Given the description of an element on the screen output the (x, y) to click on. 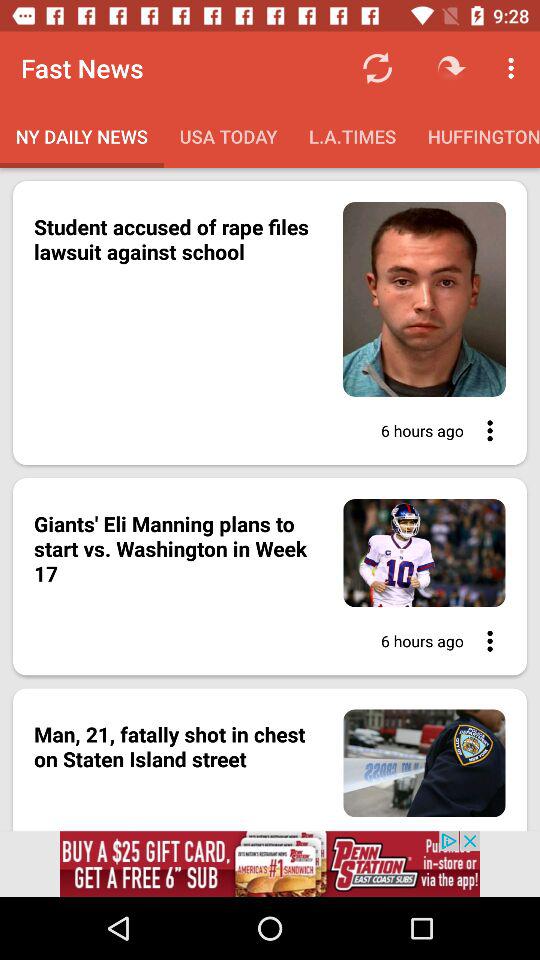
open options in article (484, 641)
